Given the description of an element on the screen output the (x, y) to click on. 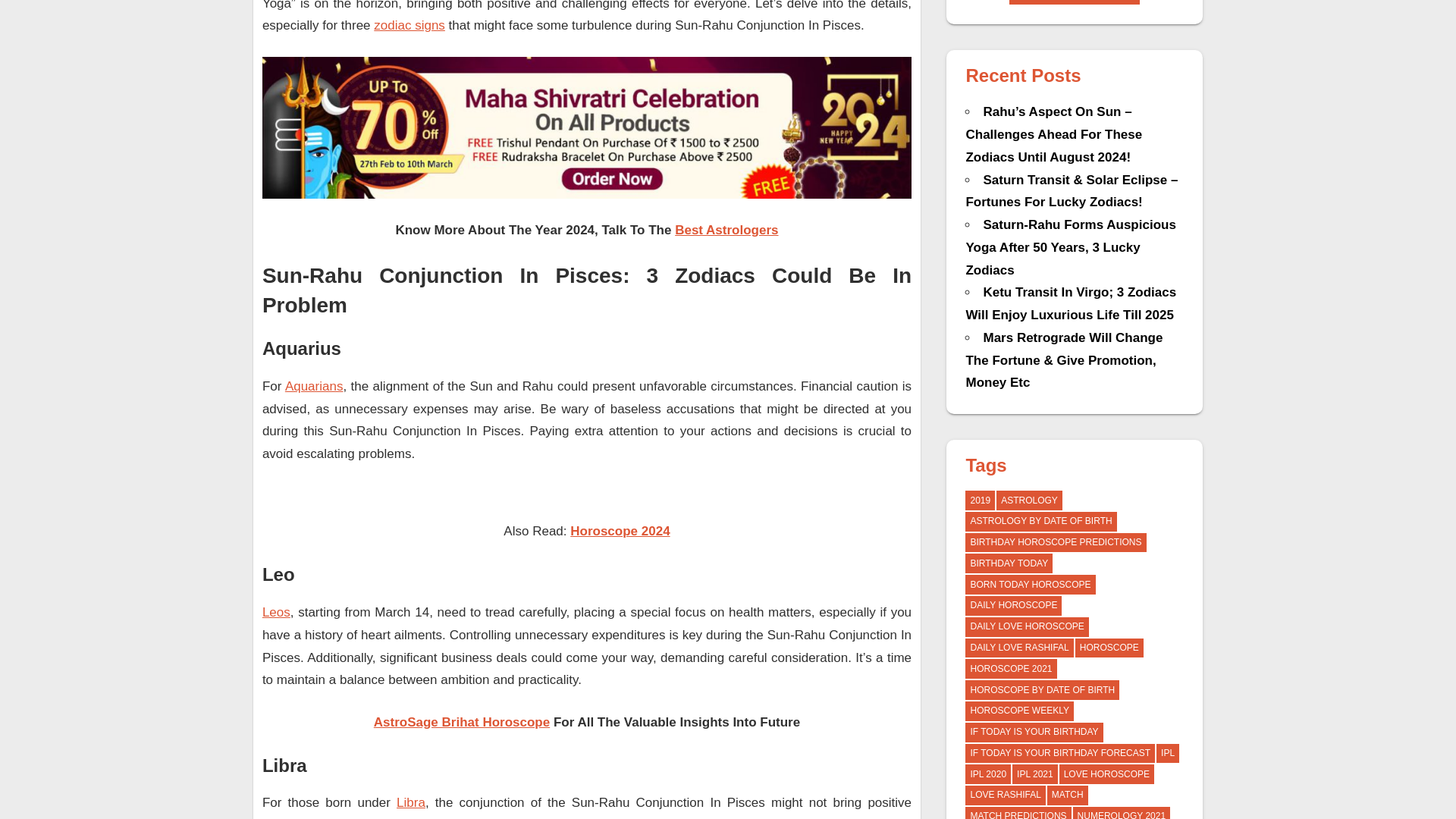
Aquarians (314, 386)
Submit Your Article (1074, 2)
zodiac signs (409, 25)
Best Astrologers (726, 229)
